Given the description of an element on the screen output the (x, y) to click on. 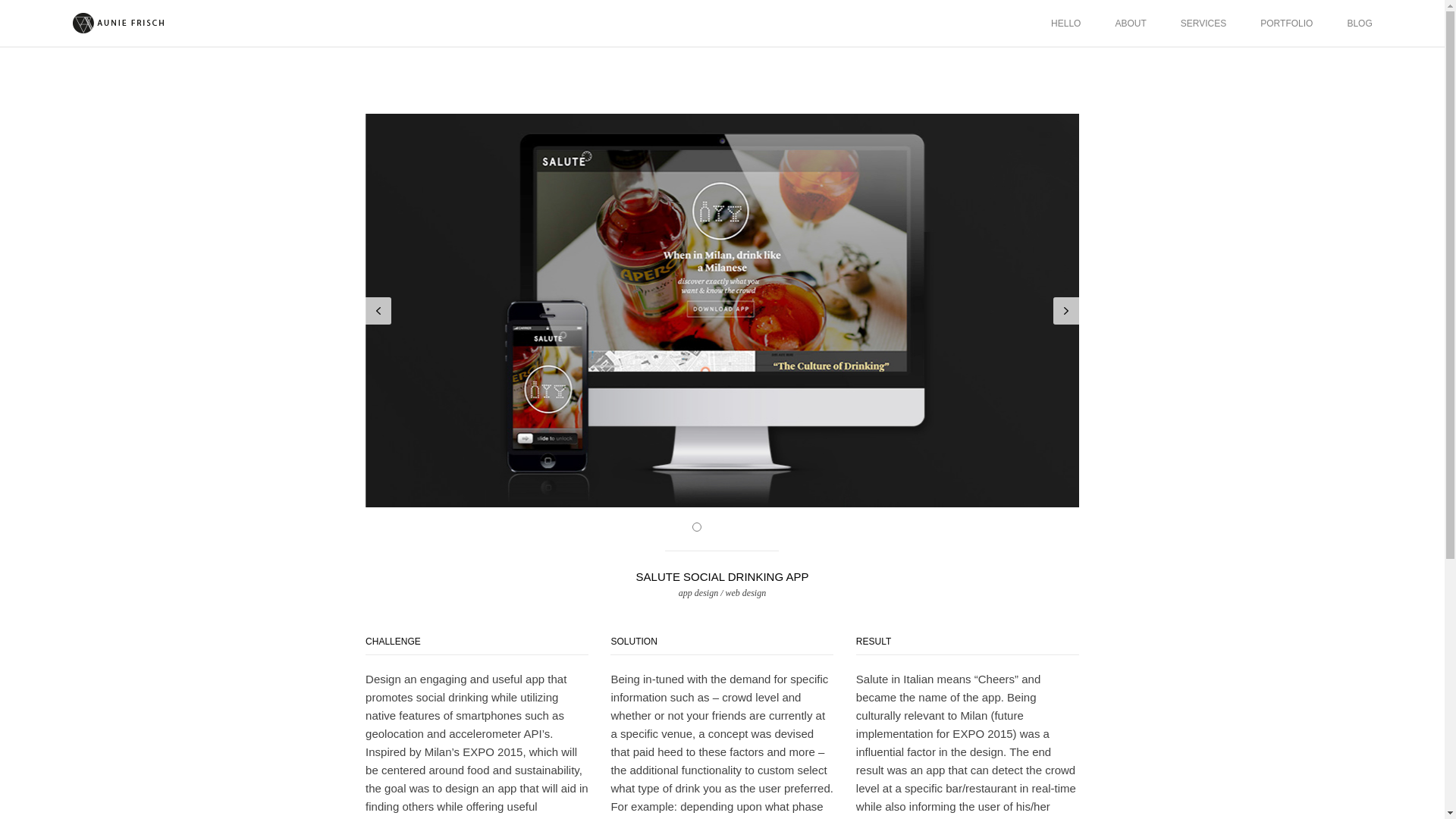
BLOG (1358, 23)
ABOUT (1130, 23)
PORTFOLIO (1286, 23)
HELLO (1065, 23)
1 (697, 526)
SERVICES (1202, 23)
Next (1065, 310)
Prev (378, 310)
3 (730, 526)
4 (746, 526)
